Given the description of an element on the screen output the (x, y) to click on. 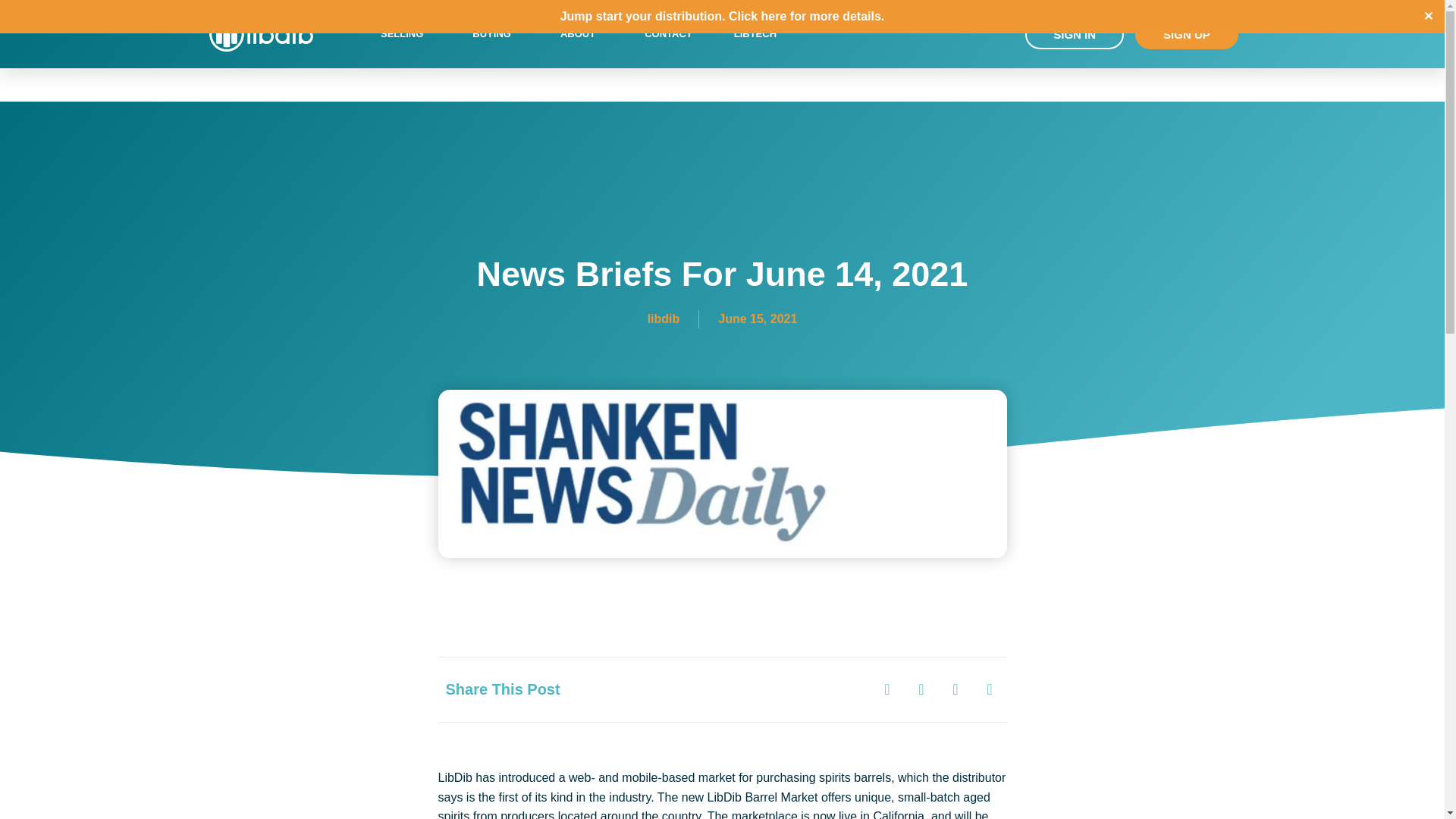
SELLING (405, 33)
SIGN UP (1187, 34)
here (774, 15)
BUYING (495, 33)
ABOUT (581, 33)
SIGN IN (1074, 34)
CONTACT (668, 33)
LIBTECH (754, 33)
